Given the description of an element on the screen output the (x, y) to click on. 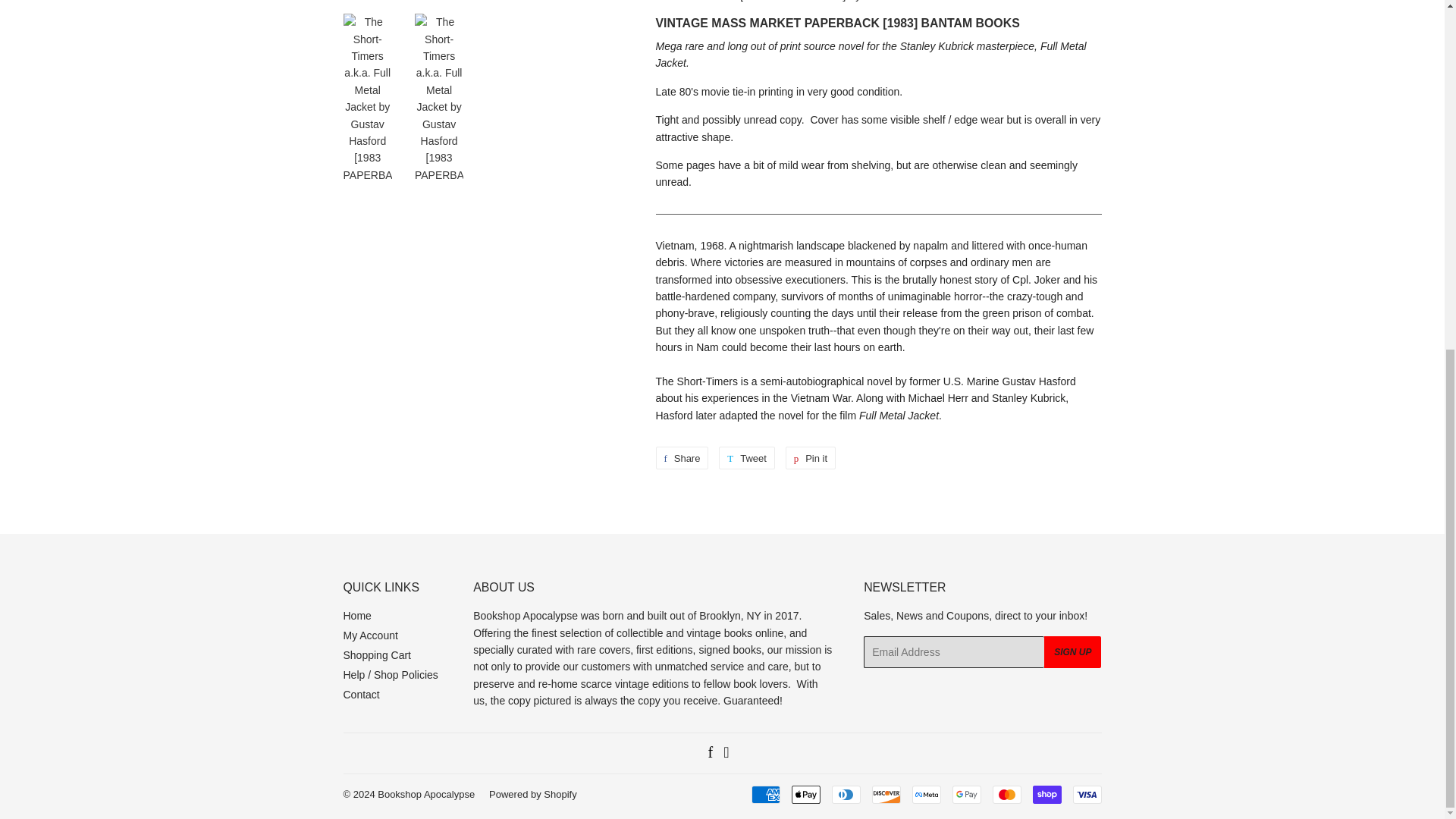
Apple Pay (806, 794)
Mastercard (1005, 794)
Visa (1085, 794)
Discover (886, 794)
Tweet on Twitter (746, 457)
Google Pay (966, 794)
Shop Pay (1046, 794)
Meta Pay (925, 794)
Diners Club (845, 794)
Share on Facebook (681, 457)
